Given the description of an element on the screen output the (x, y) to click on. 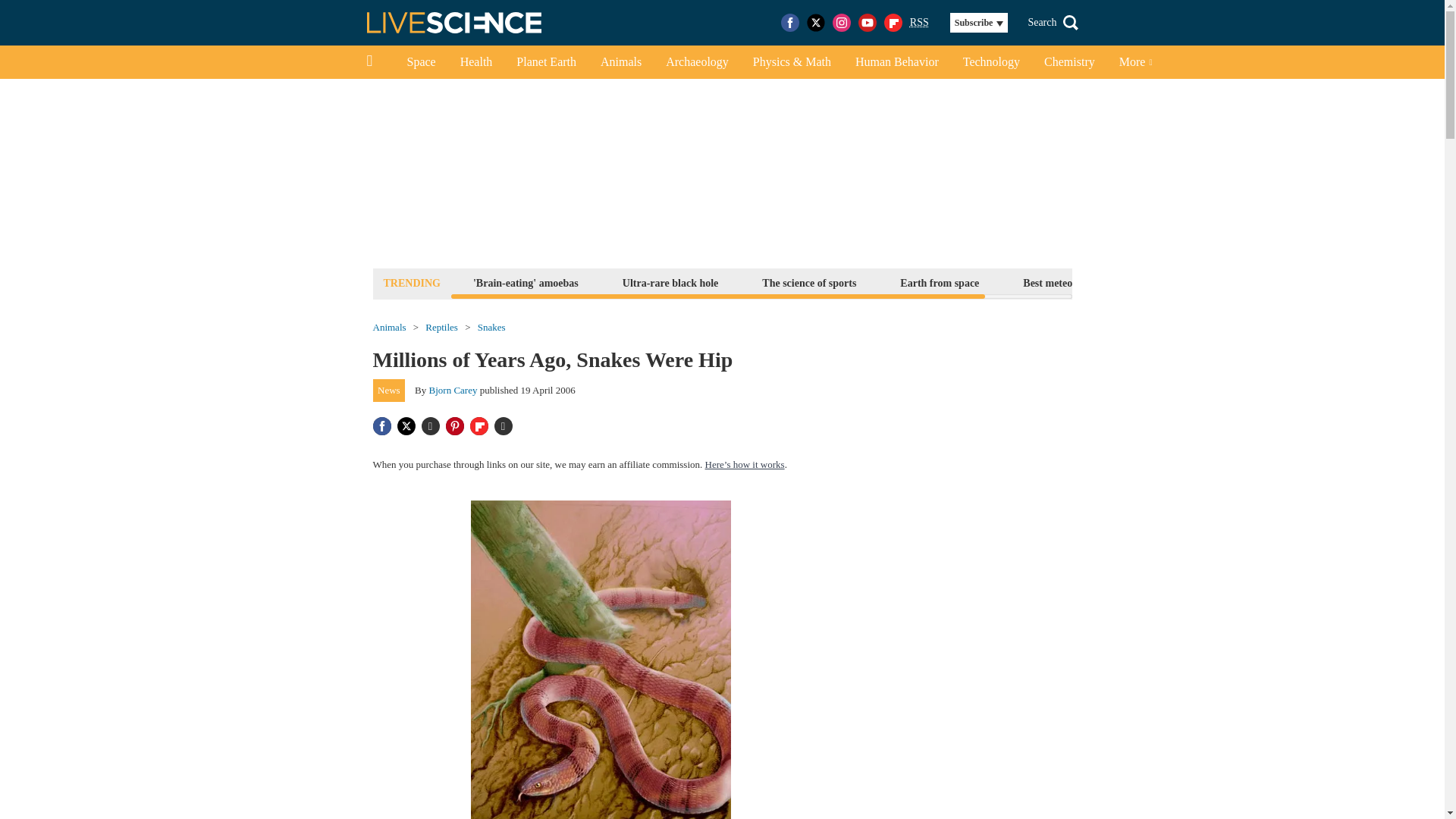
Bjorn Carey (453, 389)
The science of sports (809, 282)
Animals (389, 327)
Snakes (491, 327)
Health (476, 61)
News (389, 390)
Best meteor showers of 2024 (1086, 282)
Really Simple Syndication (919, 21)
Human Behavior (896, 61)
Planet Earth (545, 61)
Earth from space (939, 282)
Animals (620, 61)
Ultra-rare black hole (670, 282)
RSS (919, 22)
'Brain-eating' amoebas (525, 282)
